Given the description of an element on the screen output the (x, y) to click on. 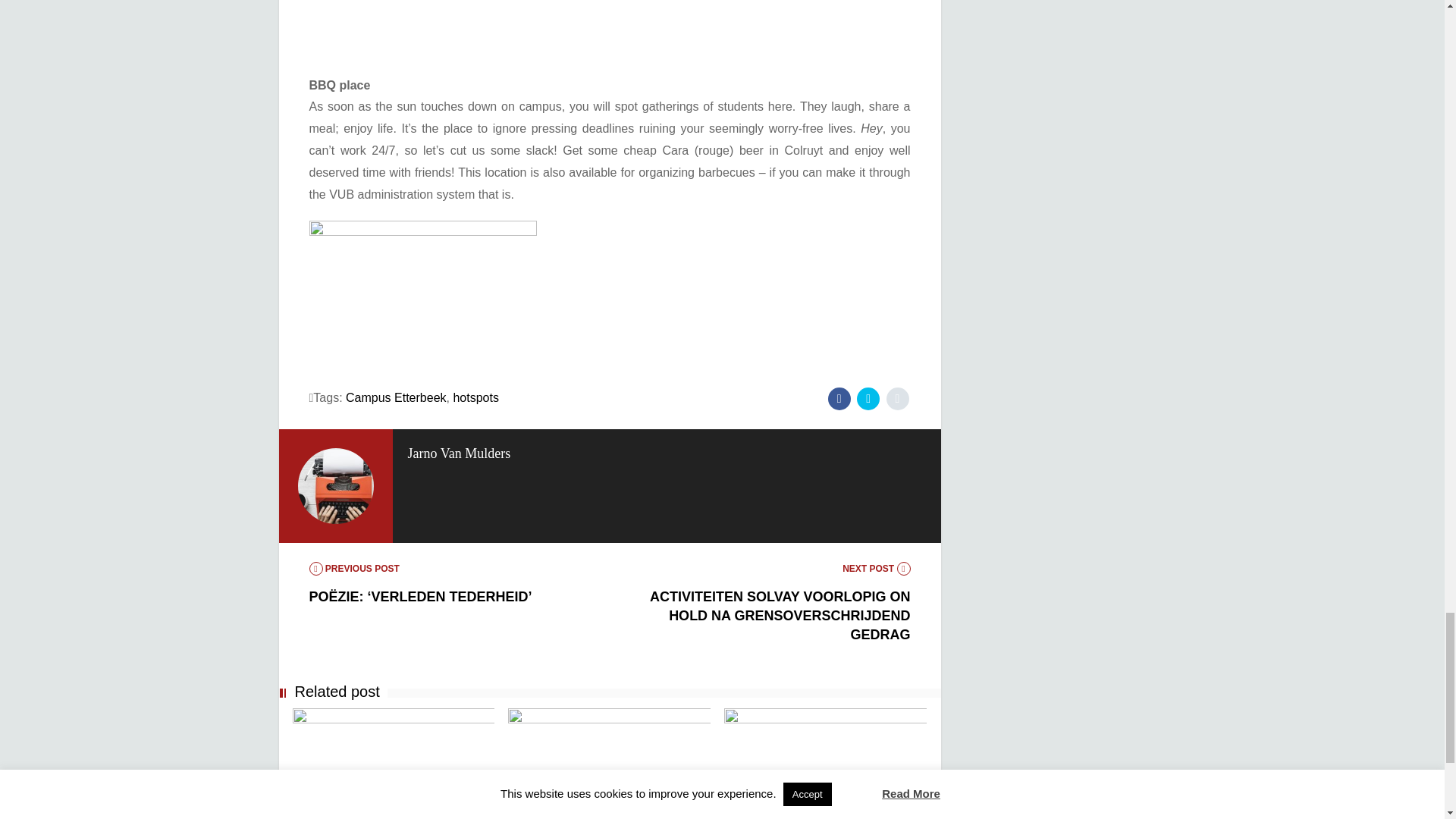
VUB heeft bouwhonger: een kijkje achter de stellingen (824, 752)
VUB heeft bouwhonger: een kijkje achter de stellingen (814, 815)
